Given the description of an element on the screen output the (x, y) to click on. 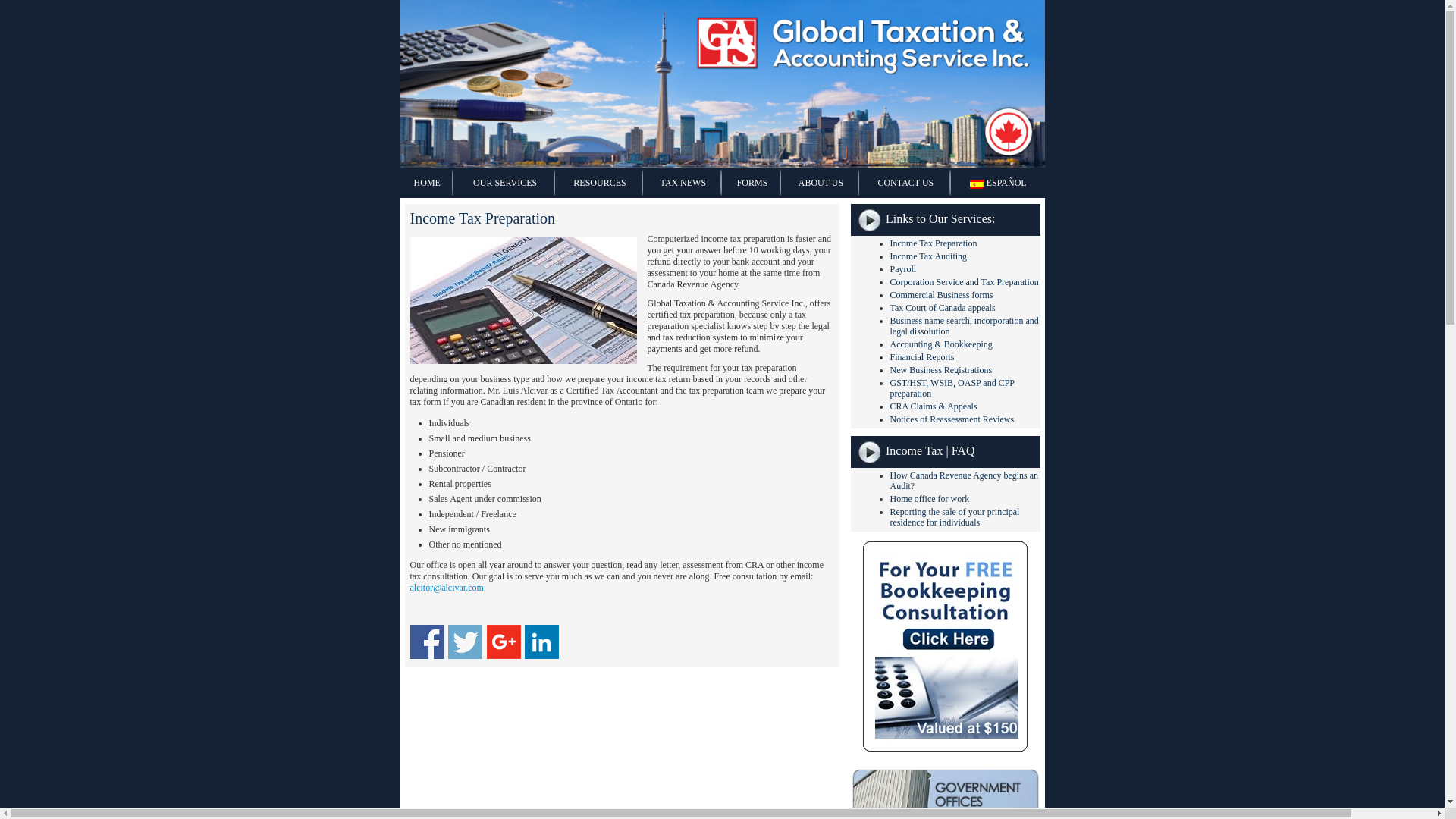
New Business Registrations (940, 369)
Share on Linkedin (541, 641)
Business name search, incorporation and legal dissolution (964, 325)
Notices of Reassessment Reviews (951, 419)
Payroll (903, 268)
RESOURCES (599, 182)
ABOUT US (820, 182)
Income Tax Auditing (928, 255)
Tax Court of Canada appeals (942, 307)
CONTACT US (906, 182)
HOME (427, 182)
Corporation Service and Tax Preparation (964, 281)
Share on Google (503, 641)
TAX NEWS (682, 182)
FORMS (751, 182)
